Given the description of an element on the screen output the (x, y) to click on. 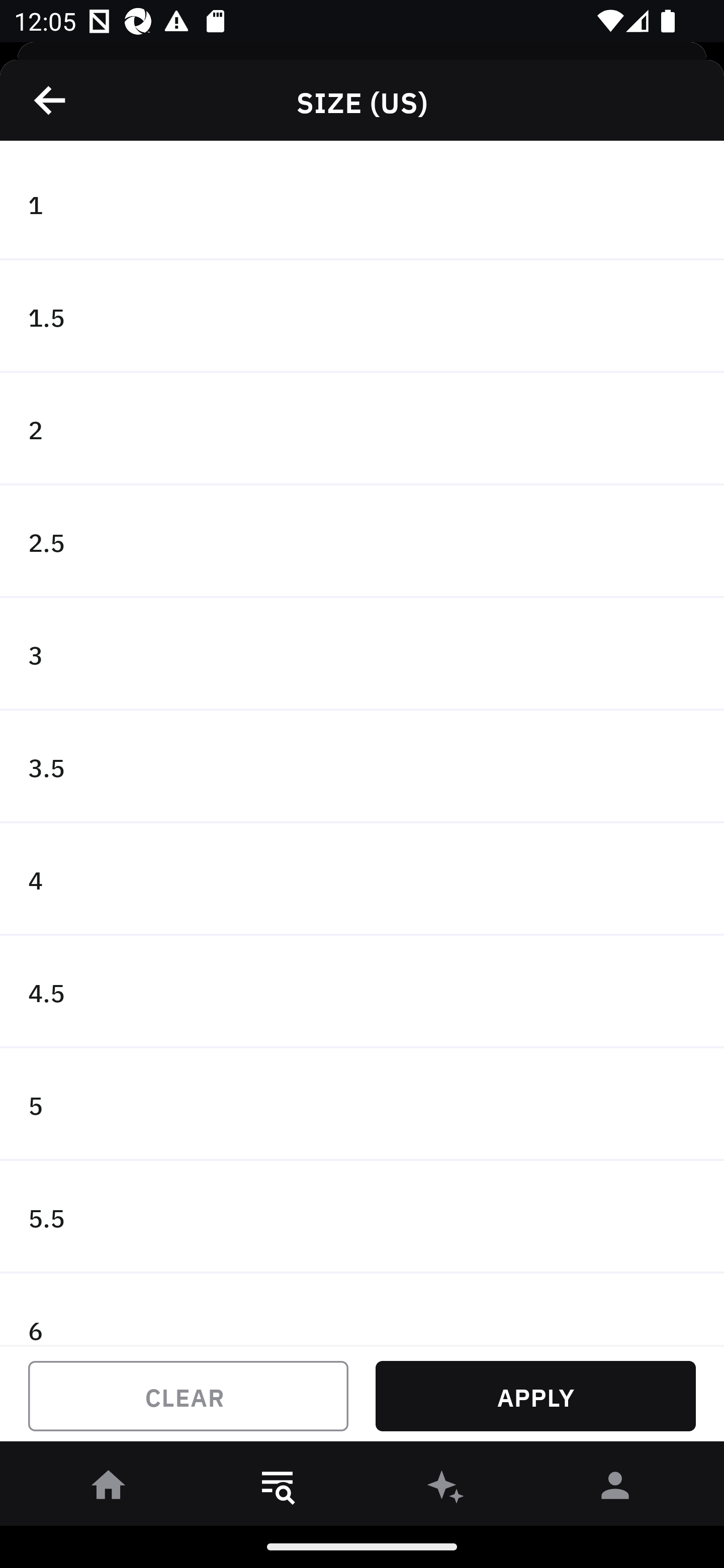
 (50, 100)
1 (362, 203)
1.5 (362, 316)
2 (362, 429)
2.5 (362, 541)
3 (362, 653)
3.5 (362, 766)
4 (362, 879)
4.5 (362, 992)
5 (362, 1104)
5.5 (362, 1216)
6 (362, 1309)
CLEAR  (188, 1396)
APPLY (535, 1396)
󰋜 (108, 1488)
󱎸 (277, 1488)
󰫢 (446, 1488)
󰀄 (615, 1488)
